Given the description of an element on the screen output the (x, y) to click on. 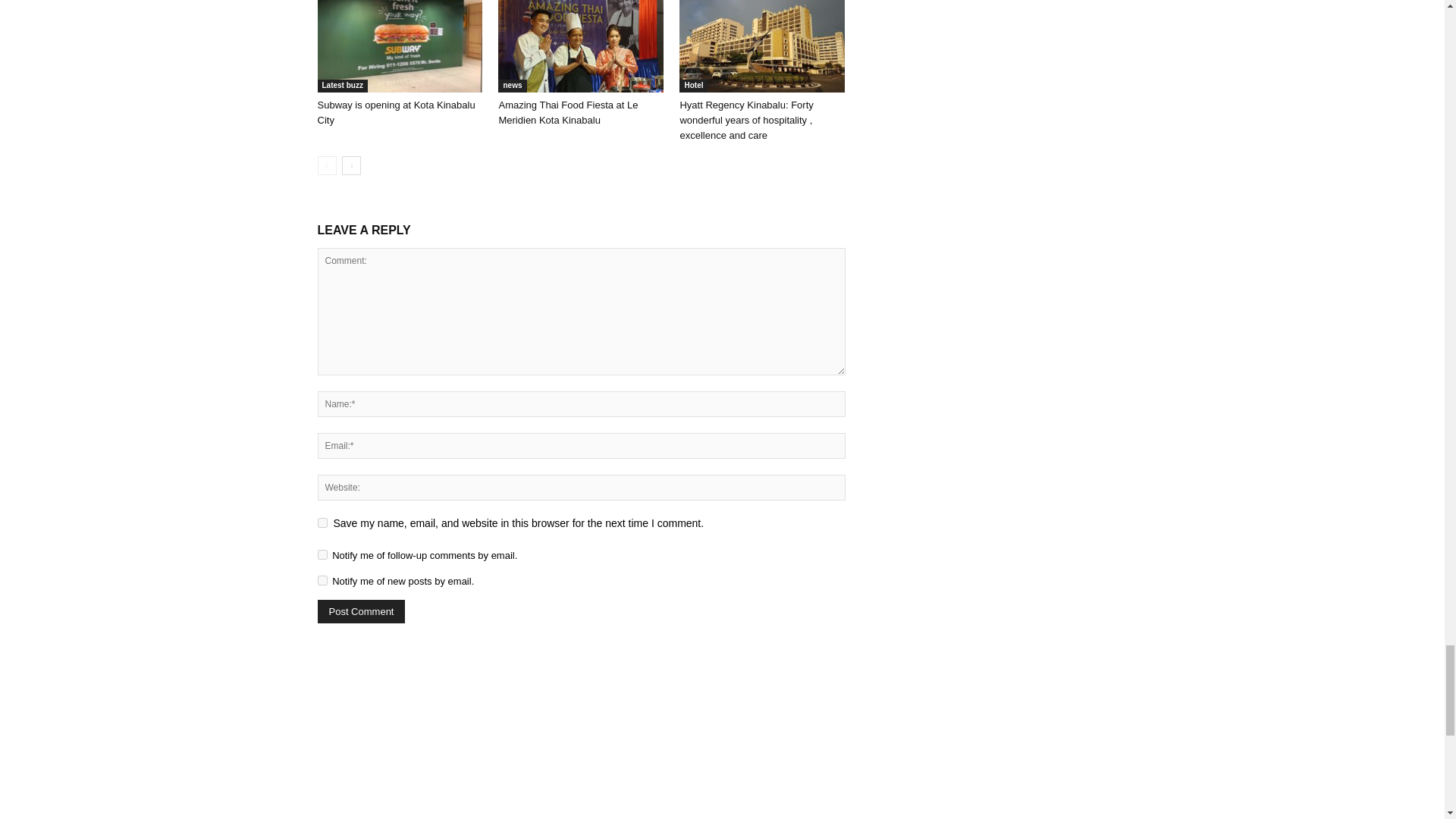
subscribe (321, 580)
subscribe (321, 554)
yes (321, 522)
Post Comment (360, 611)
